Given the description of an element on the screen output the (x, y) to click on. 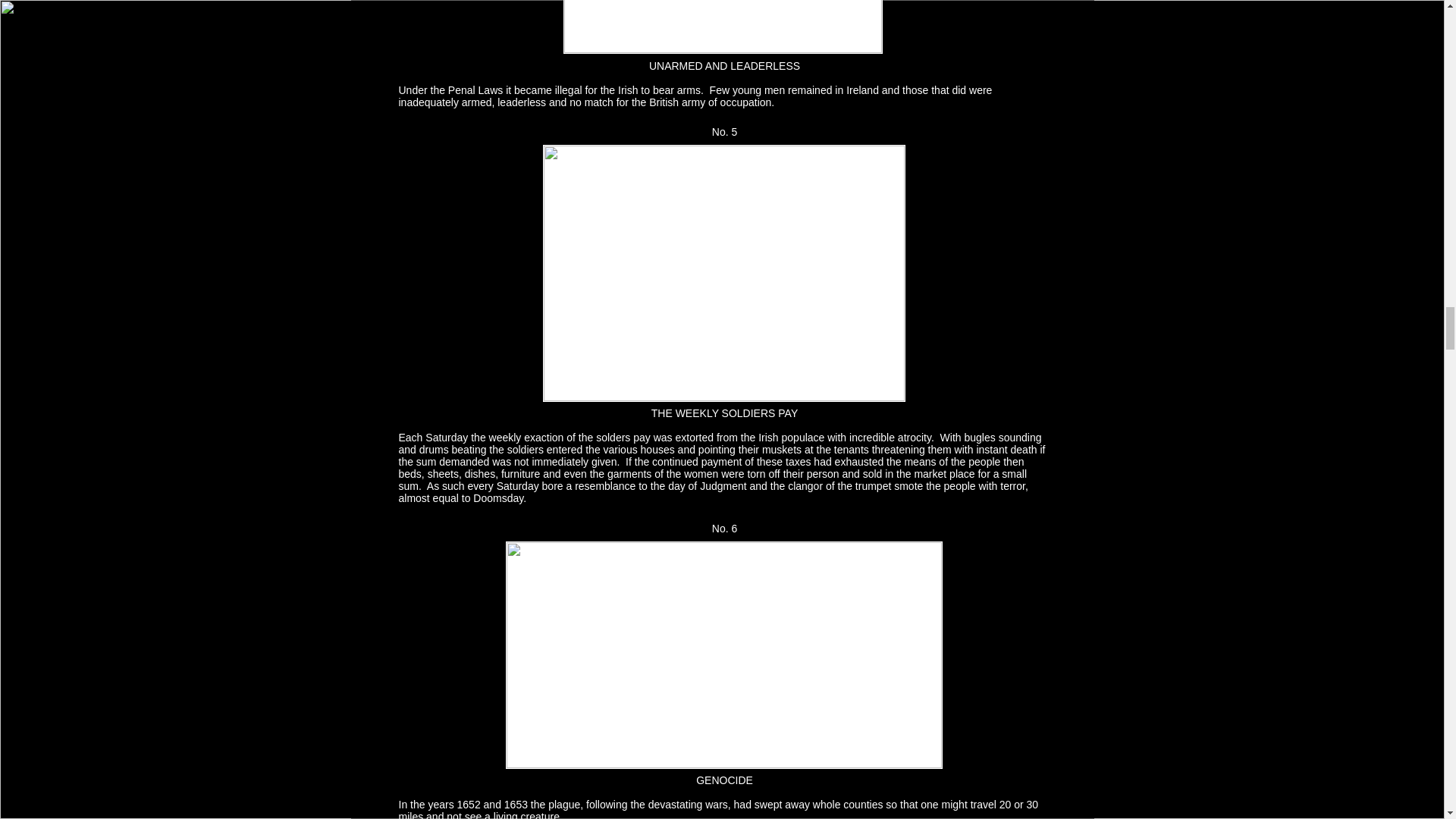
IMG-Chapter9G.jpg (723, 655)
IMG-Chapter9F.jpg (724, 273)
IMG-Chapter9E.jpg (722, 27)
